Given the description of an element on the screen output the (x, y) to click on. 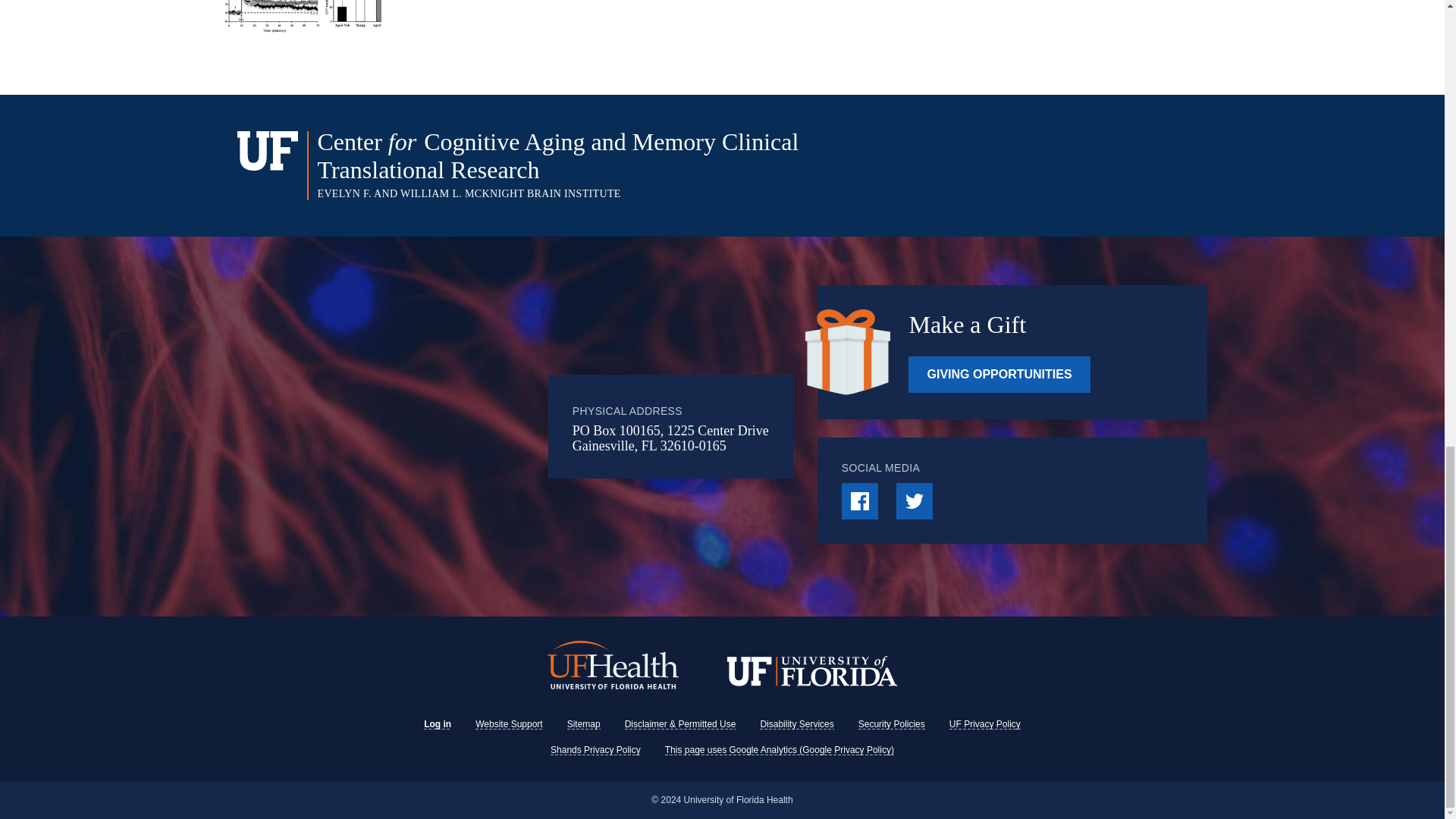
Sitemap (583, 724)
Google Maps Embed (440, 425)
Log in (437, 724)
Security Policies (891, 724)
UF Privacy Policy (984, 724)
Disability Services (796, 724)
Shands Privacy Policy (595, 749)
Website Support (509, 724)
